Given the description of an element on the screen output the (x, y) to click on. 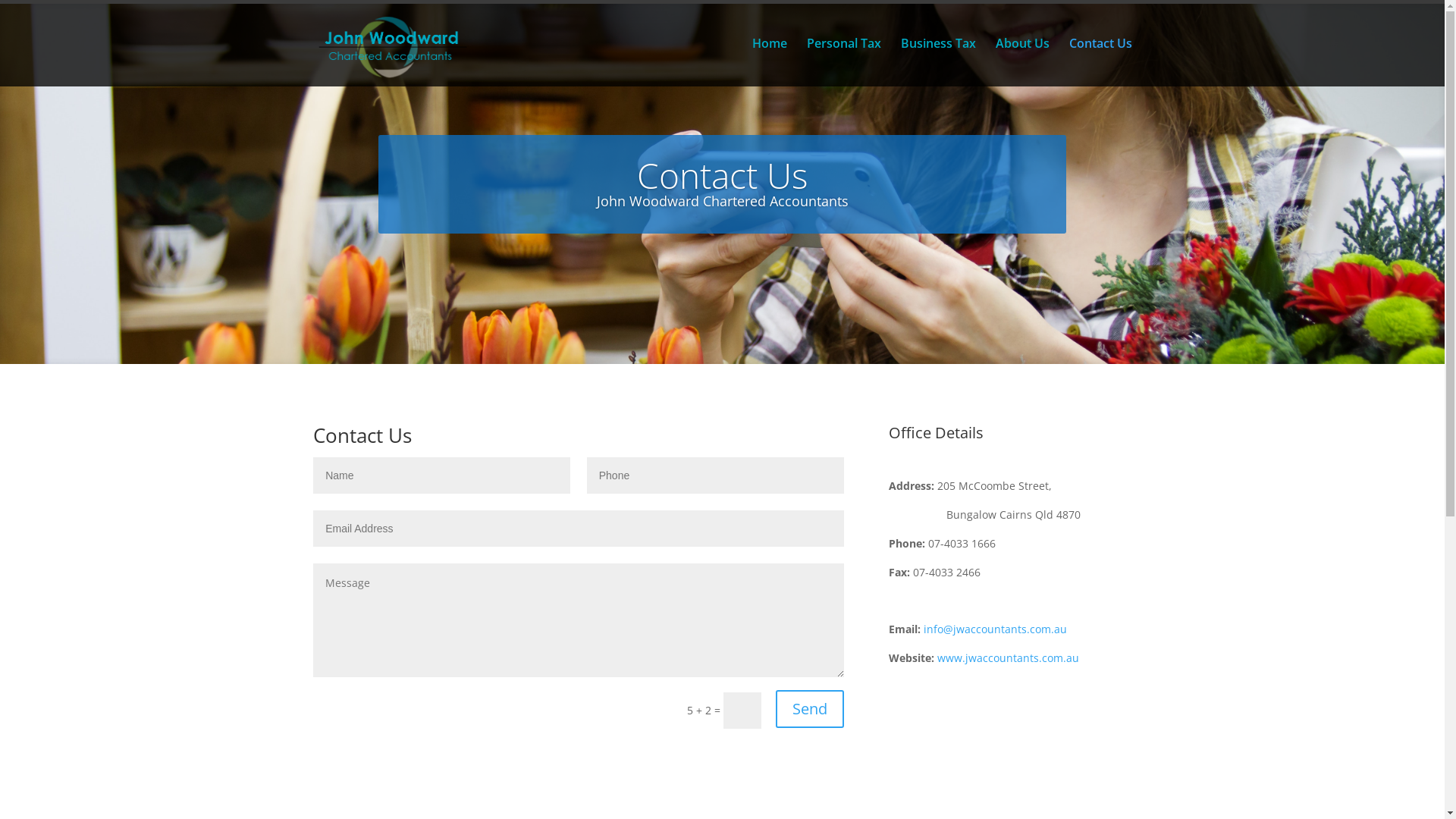
info@jwaccountants.com.au Element type: text (994, 628)
Personal Tax Element type: text (843, 61)
Home Element type: text (769, 61)
Send Element type: text (809, 709)
Contact Us Element type: text (1100, 61)
Business Tax Element type: text (937, 61)
www.jwaccountants.com.au Element type: text (1008, 657)
About Us Element type: text (1021, 61)
